Given the description of an element on the screen output the (x, y) to click on. 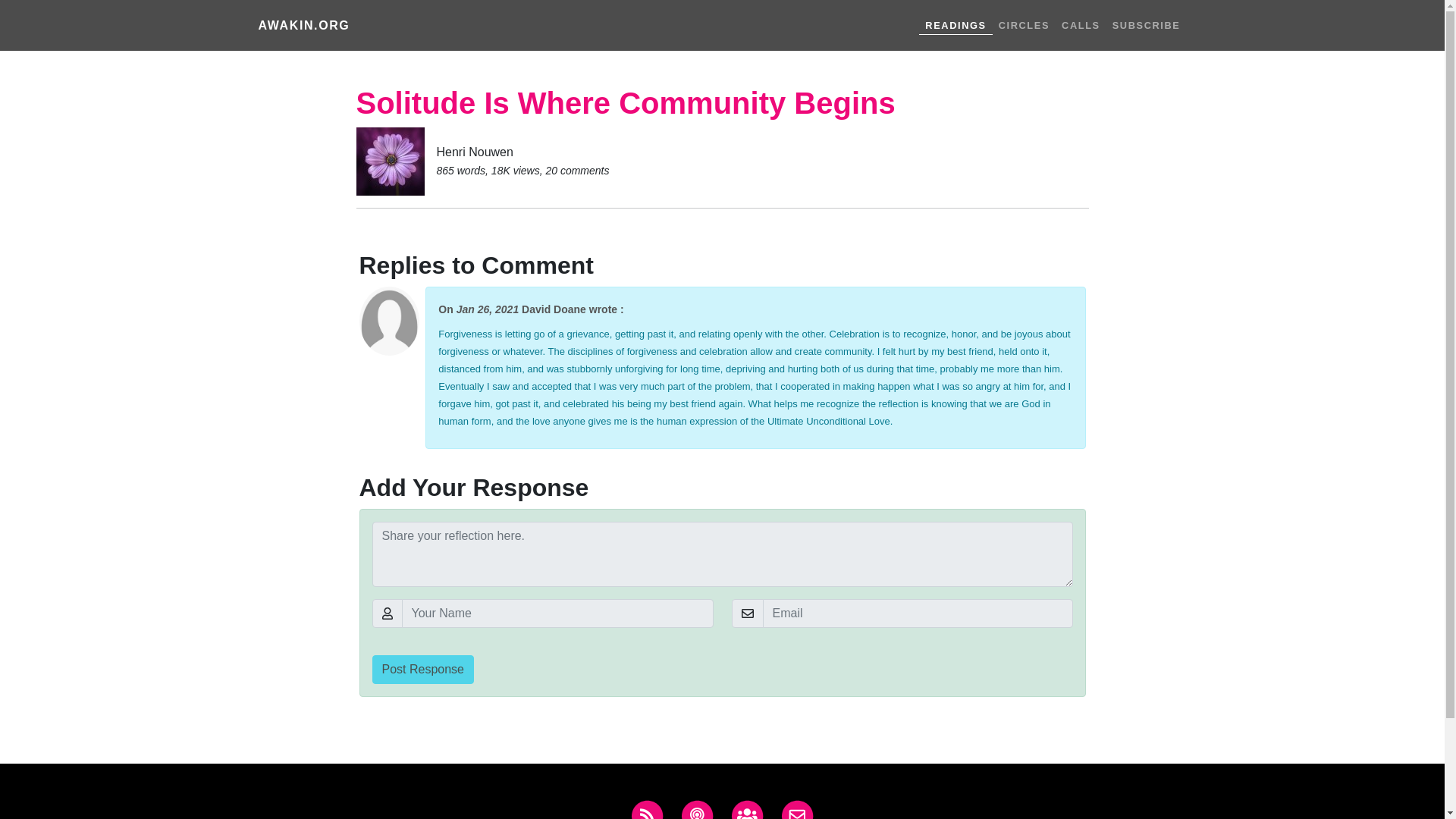
AWAKIN.ORG (303, 25)
CALLS (1080, 25)
CIRCLES (1023, 25)
READINGS (954, 23)
Post Response (422, 669)
SUBSCRIBE (1146, 25)
Solitude Is Where Community Begins (625, 102)
